Given the description of an element on the screen output the (x, y) to click on. 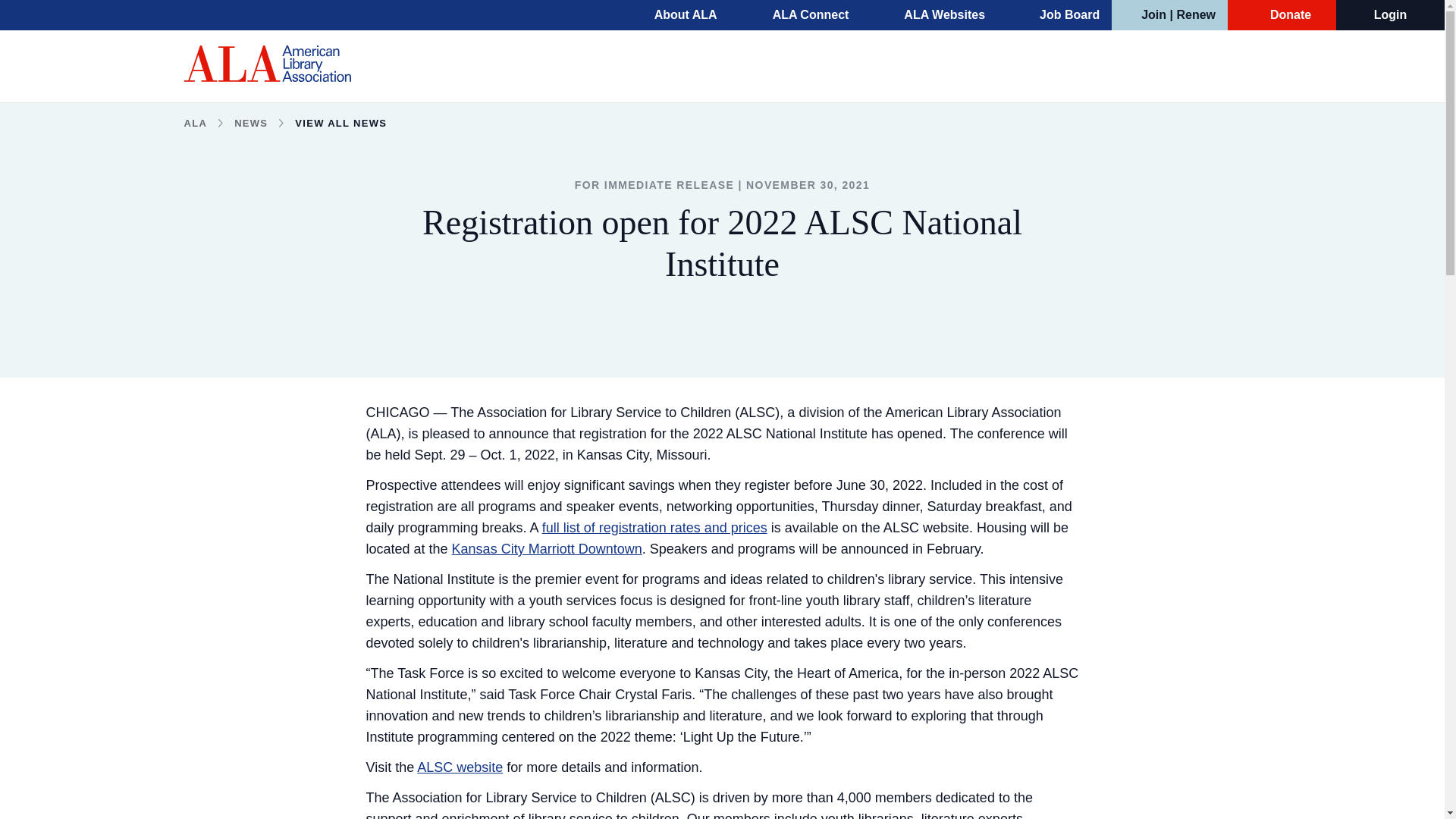
Job Board (1060, 15)
Donate (1281, 15)
ALA Websites (934, 15)
ALA Connect (801, 15)
ALA Websites (934, 15)
Login (1390, 15)
About ALA (675, 15)
Donate (1281, 15)
Job Board (1060, 15)
